Given the description of an element on the screen output the (x, y) to click on. 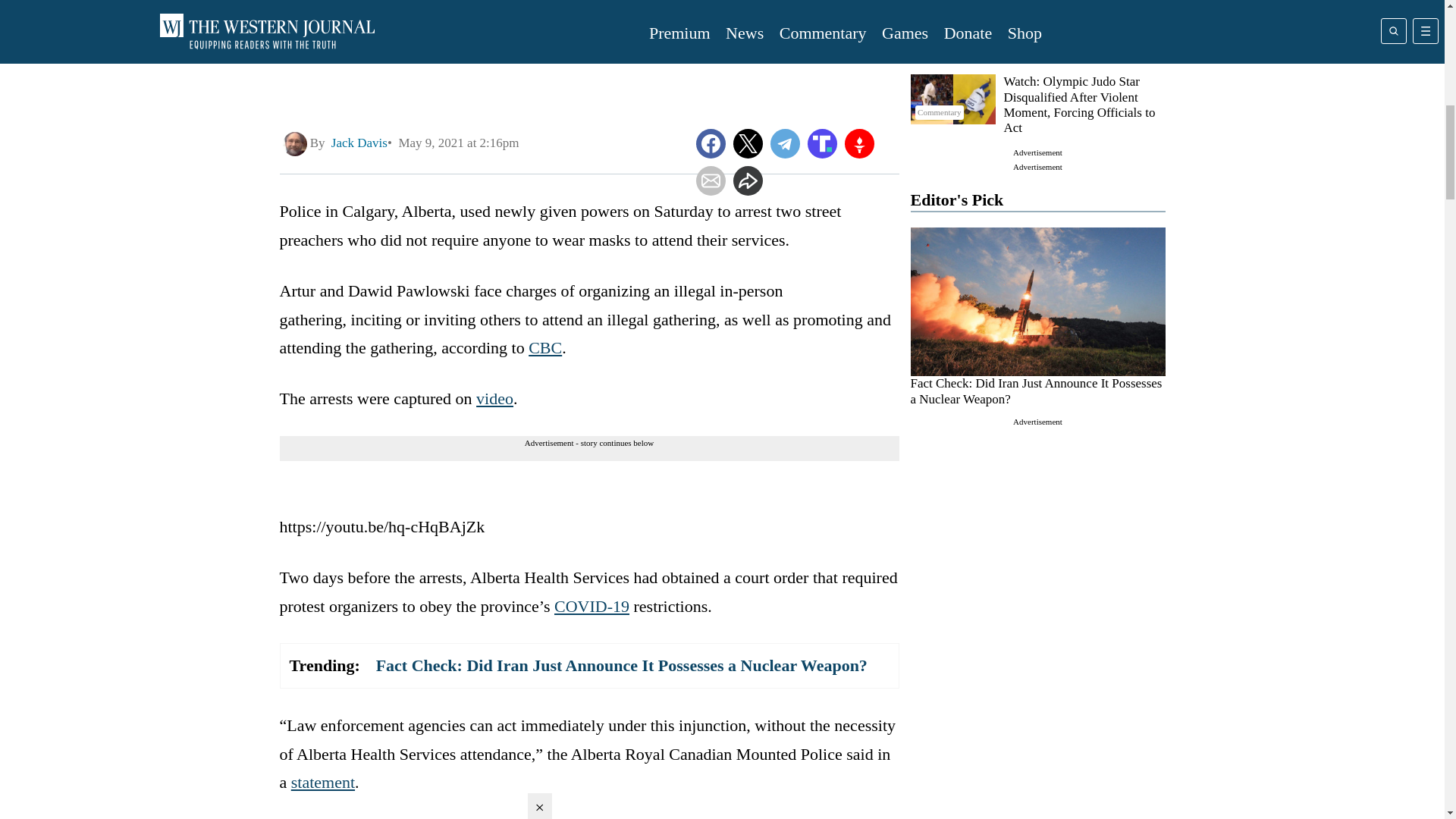
Commentary (952, 12)
